Given the description of an element on the screen output the (x, y) to click on. 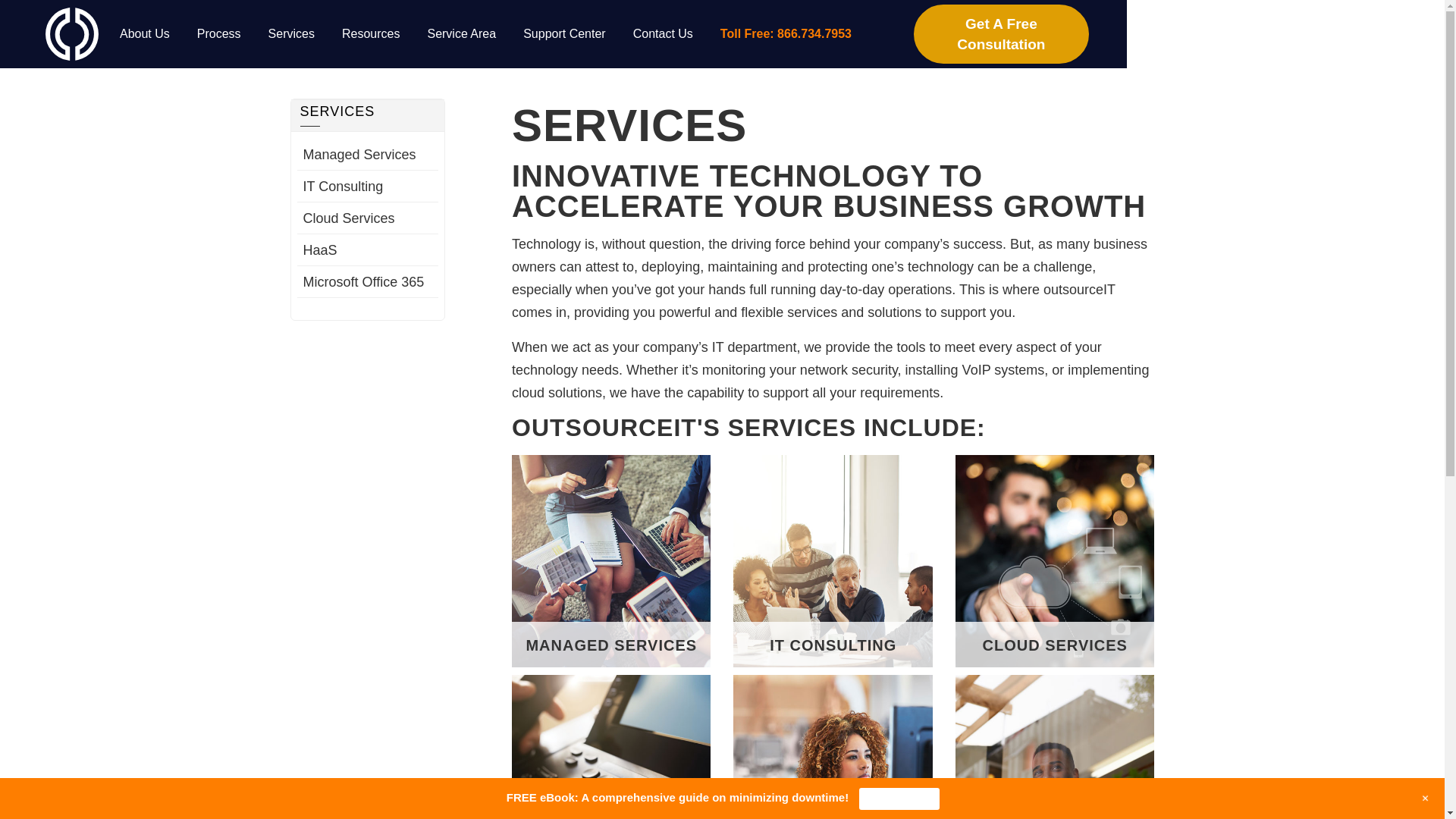
Services (291, 33)
About Us (144, 33)
Process (218, 33)
